Given the description of an element on the screen output the (x, y) to click on. 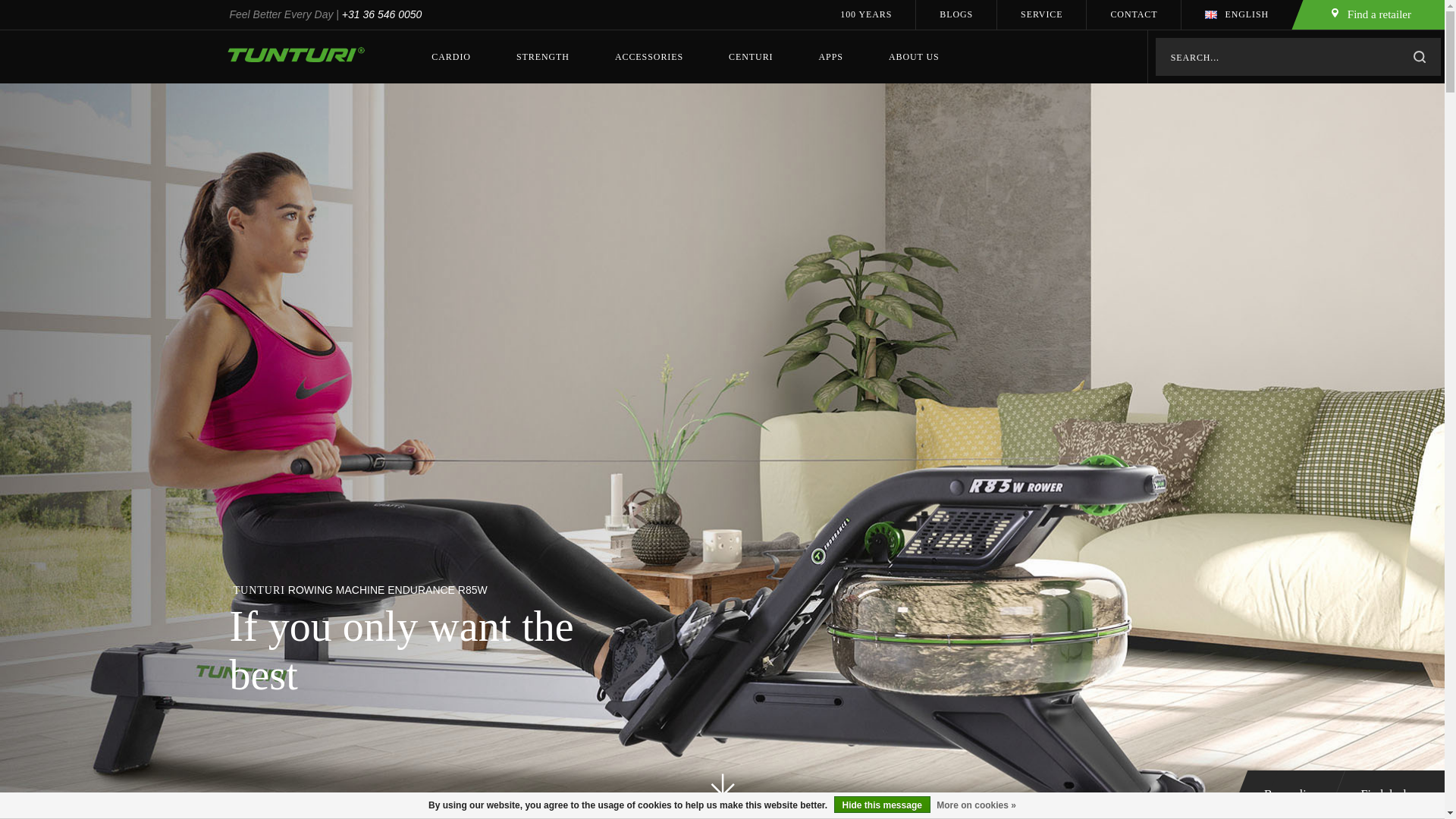
ENGLISH (1236, 14)
Service (1041, 14)
100 years (865, 14)
Cardio (450, 56)
Blogs (956, 14)
SERVICE (1041, 14)
BLOGS (956, 14)
ACCESSORIES (648, 56)
100 YEARS (865, 14)
Contact (1133, 14)
STRENGTH (542, 56)
CARDIO (450, 56)
CONTACT (1133, 14)
